Given the description of an element on the screen output the (x, y) to click on. 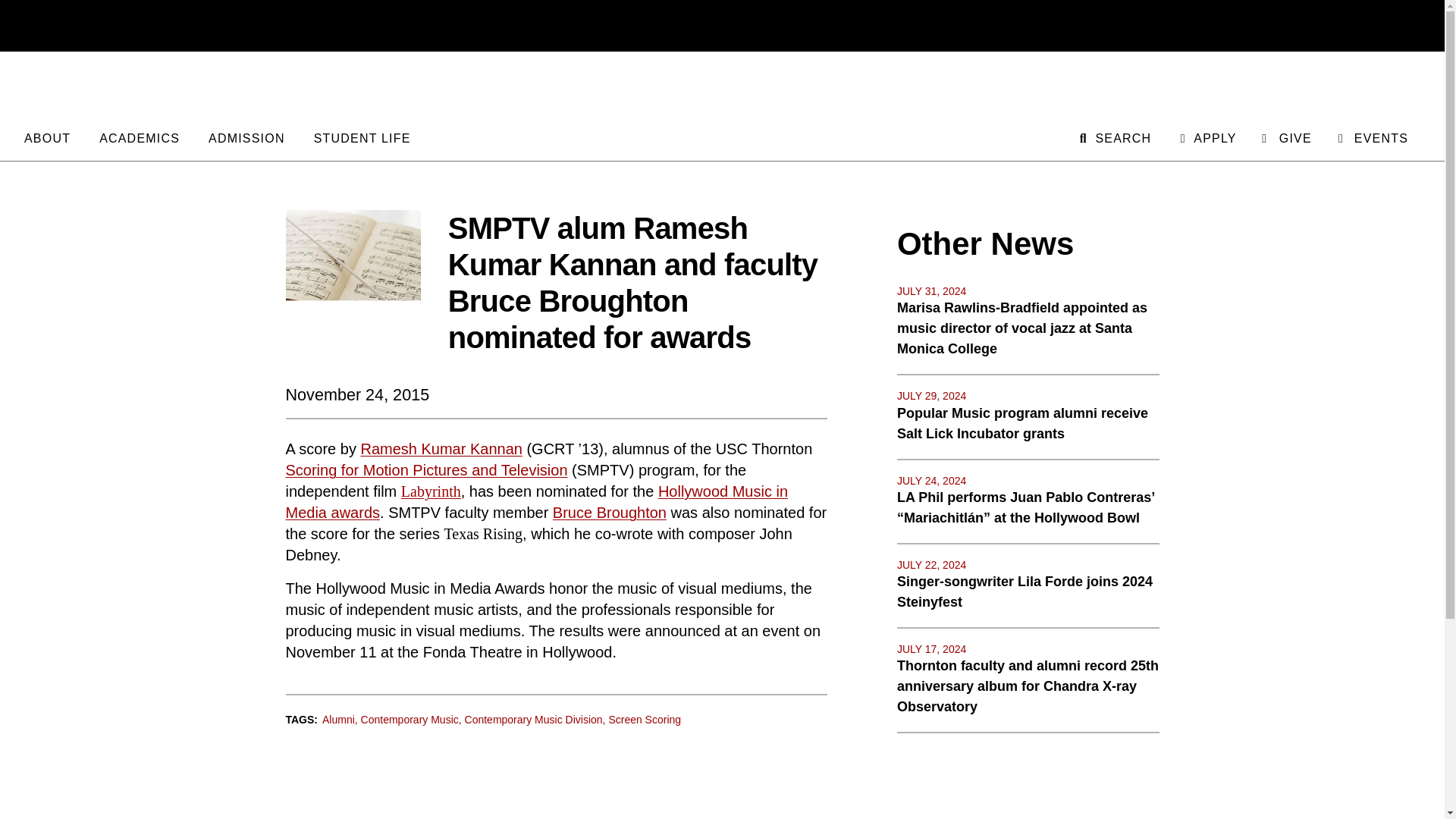
ACADEMICS (139, 135)
ADMISSION (246, 135)
USC Thornton School of Music (722, 87)
APPLY (1205, 135)
SEARCH (1114, 135)
ABOUT (46, 135)
University of Southern California (1348, 25)
GIVE (1285, 135)
EVENTS (1371, 135)
STUDENT LIFE (362, 135)
